Given the description of an element on the screen output the (x, y) to click on. 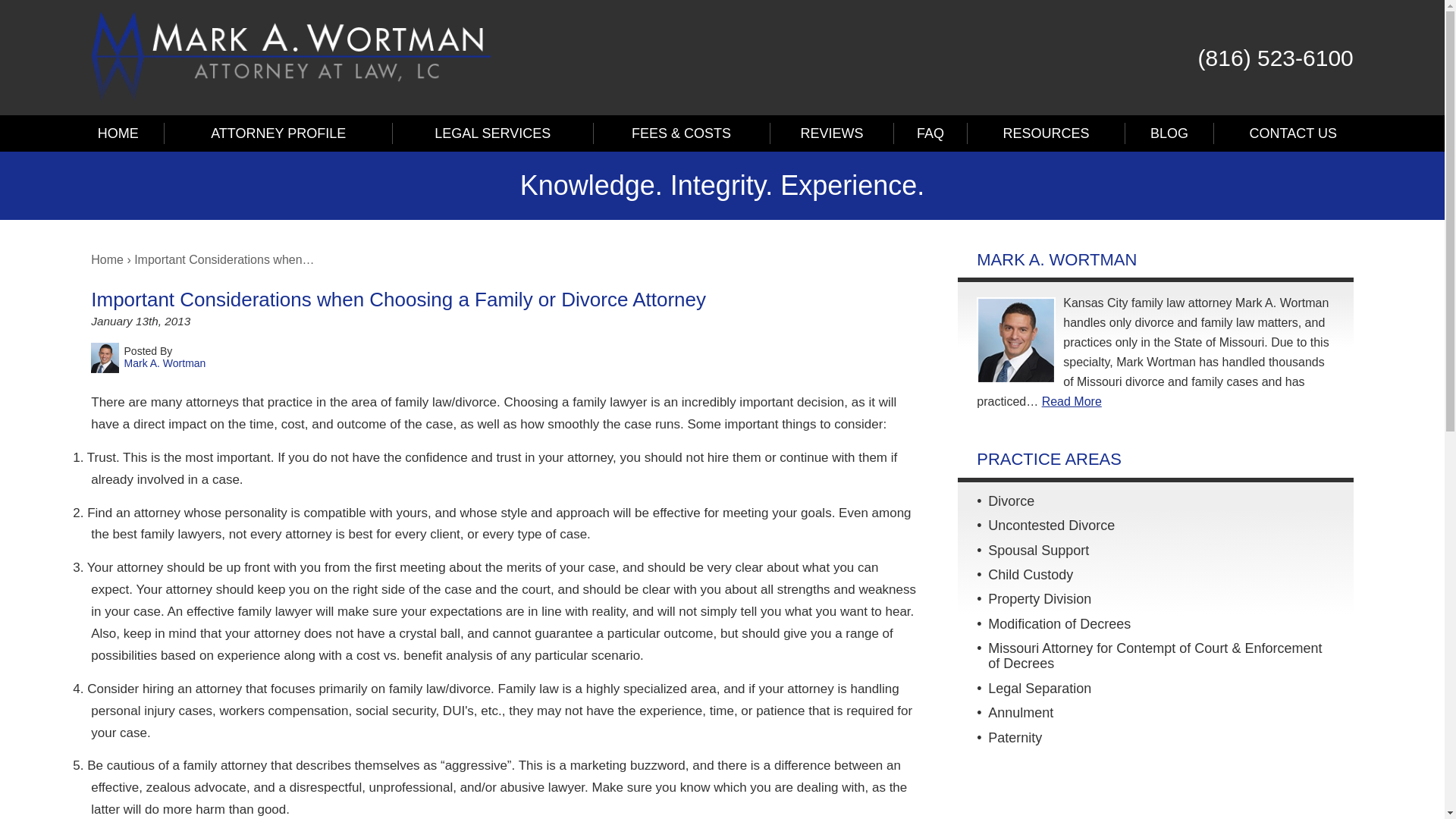
Read more about Divorce (1010, 500)
Uncontested Divorce (1051, 525)
REVIEWS (831, 133)
Read more about Paternity (1015, 737)
Home (106, 259)
BLOG (1168, 133)
Read more about Uncontested Divorce (1051, 525)
RESOURCES (1046, 133)
Read more about Child Custody (1030, 574)
Read more about Legal Separation (1039, 688)
